Given the description of an element on the screen output the (x, y) to click on. 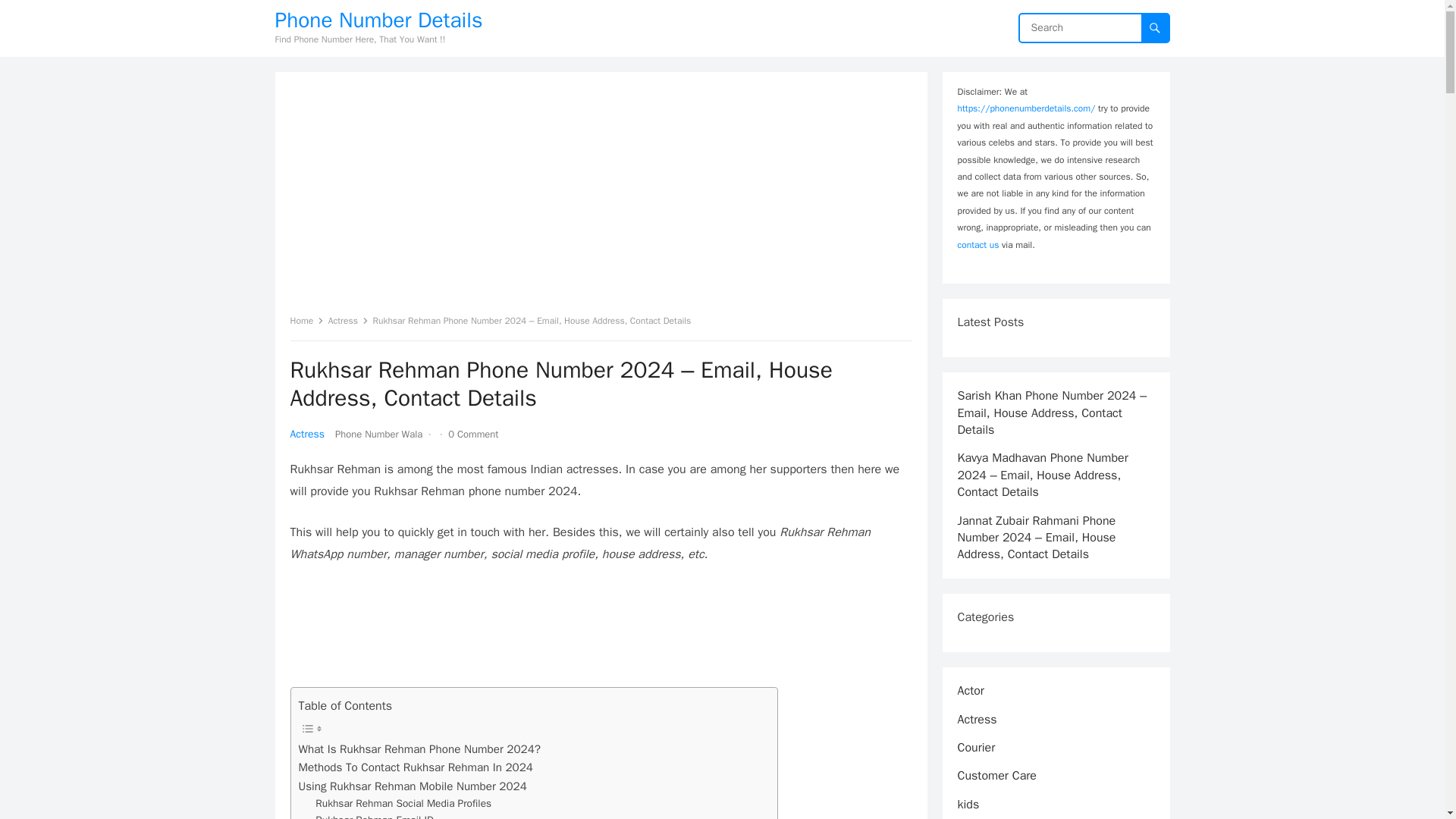
Advertisement (600, 199)
Methods To Contact Rukhsar Rehman In 2024 (415, 767)
Advertisement (600, 631)
Actress (348, 320)
Methods To Contact Rukhsar Rehman In 2024 (415, 767)
Home (306, 320)
Using Rukhsar Rehman  Mobile Number 2024 (412, 786)
0 Comment (472, 433)
Rukhsar Rehman Social Media Profiles  (403, 803)
Rukhsar Rehman Email  ID (374, 815)
Rukhsar Rehman Social Media Profiles (403, 803)
Posts by Phone Number Wala (378, 433)
Using Rukhsar Rehman Mobile Number 2024 (412, 786)
Rukhsar Rehman Email ID (374, 815)
Actress (306, 433)
